Given the description of an element on the screen output the (x, y) to click on. 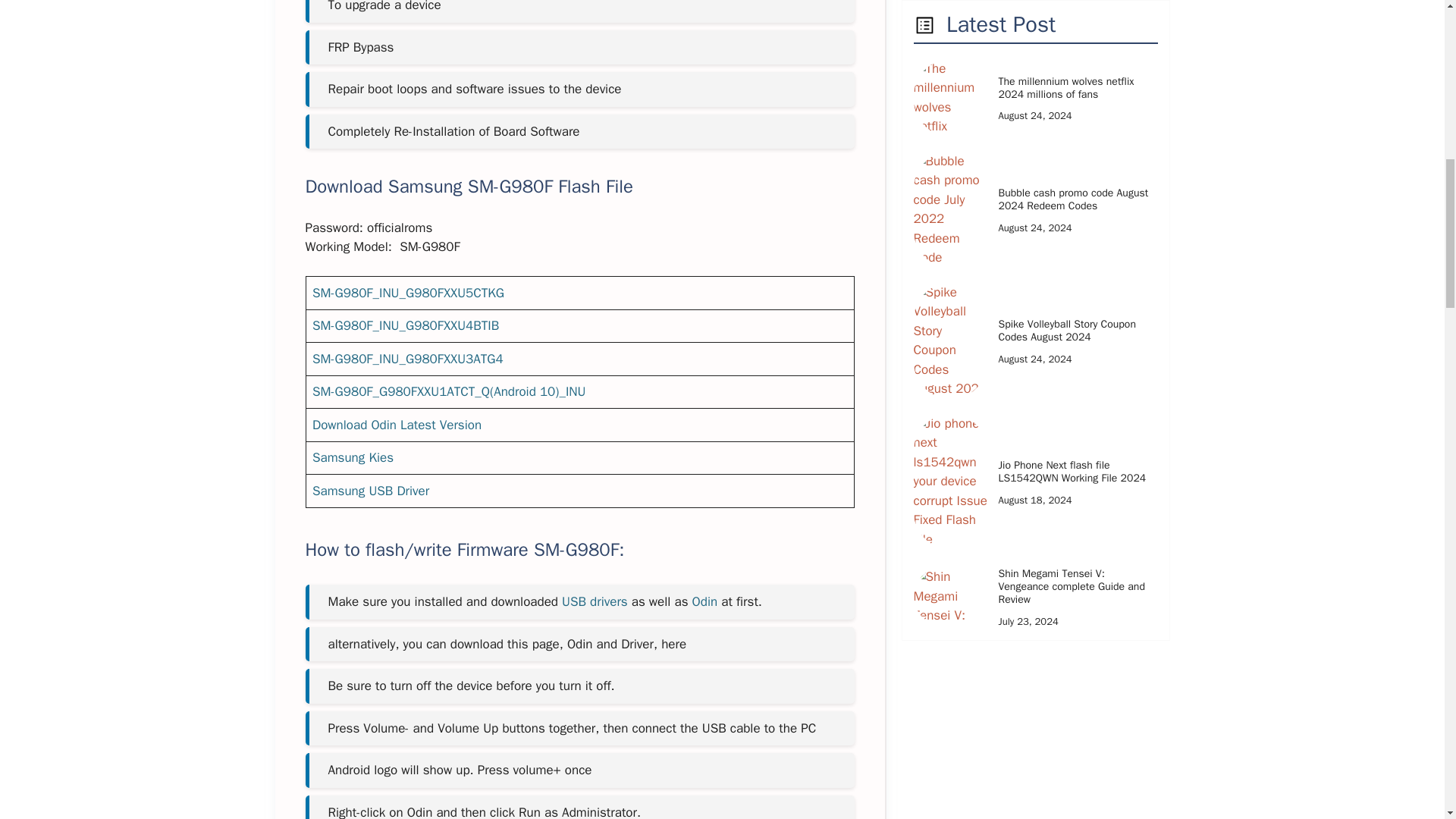
Samsung USB Driver (371, 490)
Samsung Kies (353, 457)
USB drivers (594, 601)
Download Odin Latest Version (397, 424)
Odin (705, 601)
